Given the description of an element on the screen output the (x, y) to click on. 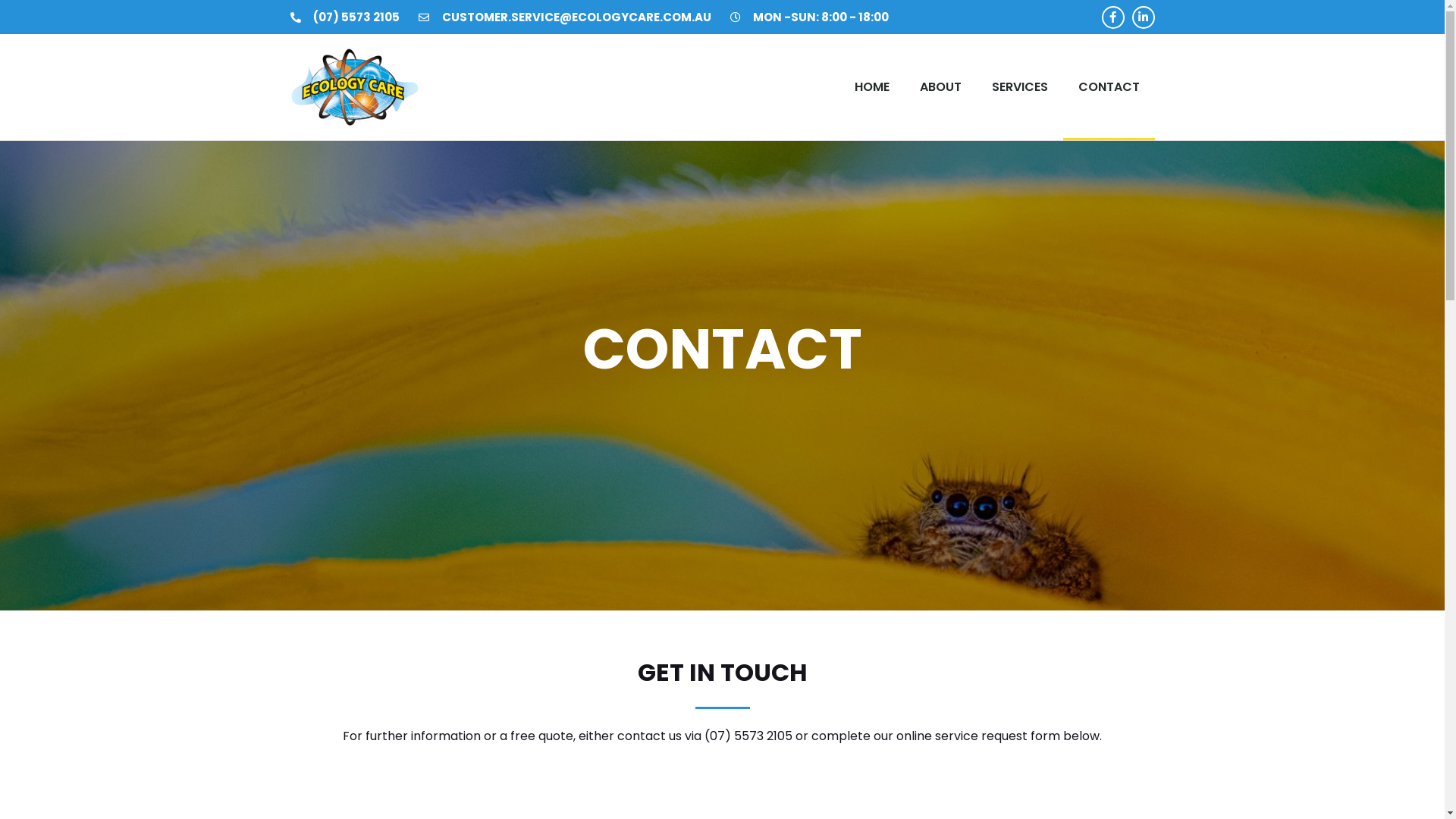
ABOUT Element type: text (939, 87)
SERVICES Element type: text (1019, 87)
HOME Element type: text (870, 87)
(07) 5573 2105 Element type: text (344, 16)
CONTACT Element type: text (1108, 87)
CUSTOMER.SERVICE@ECOLOGYCARE.COM.AU Element type: text (564, 16)
